Given the description of an element on the screen output the (x, y) to click on. 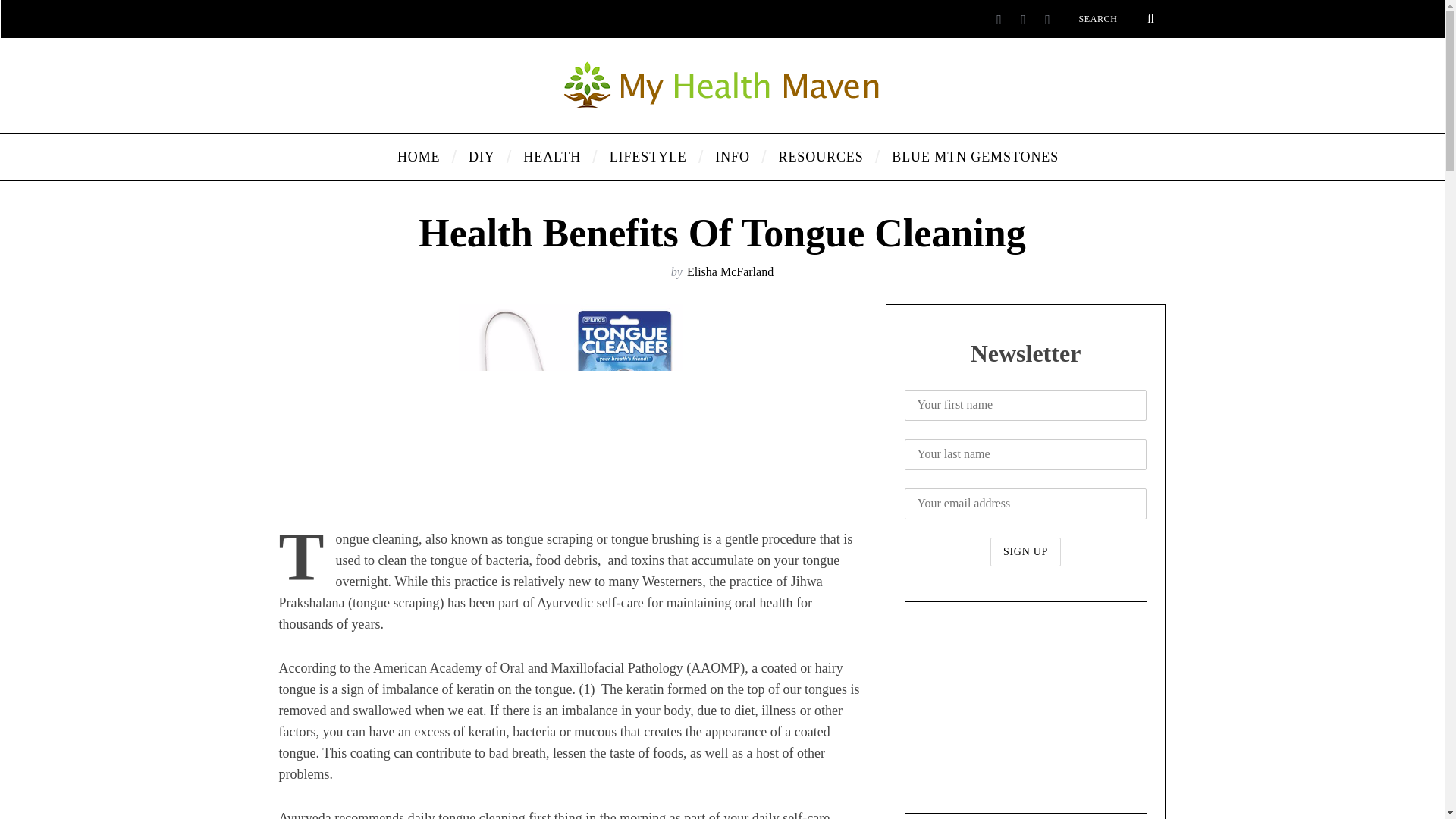
HEALTH (554, 156)
LIFESTYLE (651, 156)
RESOURCES (823, 156)
Search (1116, 18)
Sign up (1025, 551)
INFO (735, 156)
